Given the description of an element on the screen output the (x, y) to click on. 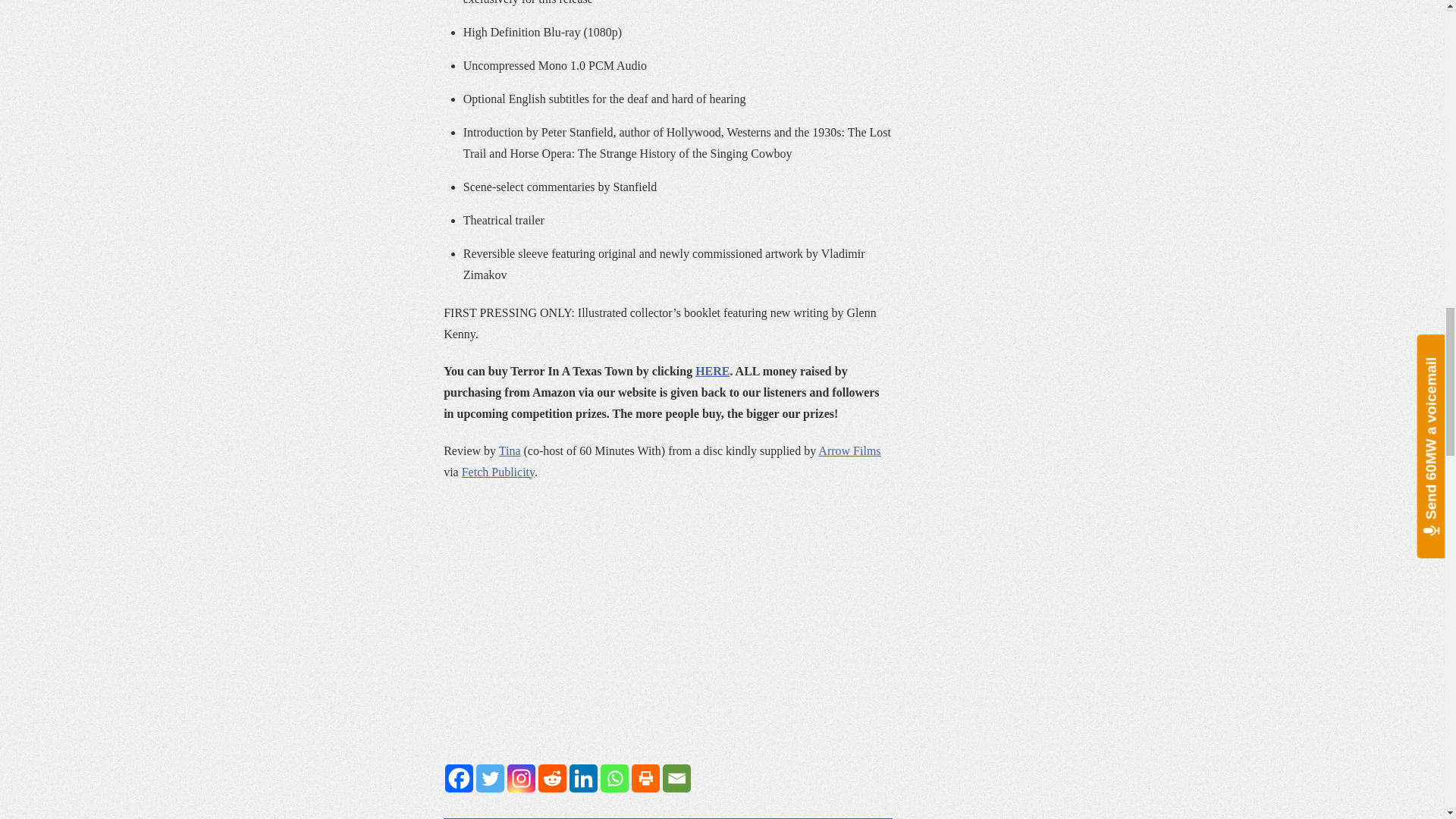
Print (645, 778)
Twitter (489, 778)
Email (676, 778)
Linkedin (582, 778)
Reddit (552, 778)
Instagram (520, 778)
Facebook (459, 778)
Whatsapp (613, 778)
